Given the description of an element on the screen output the (x, y) to click on. 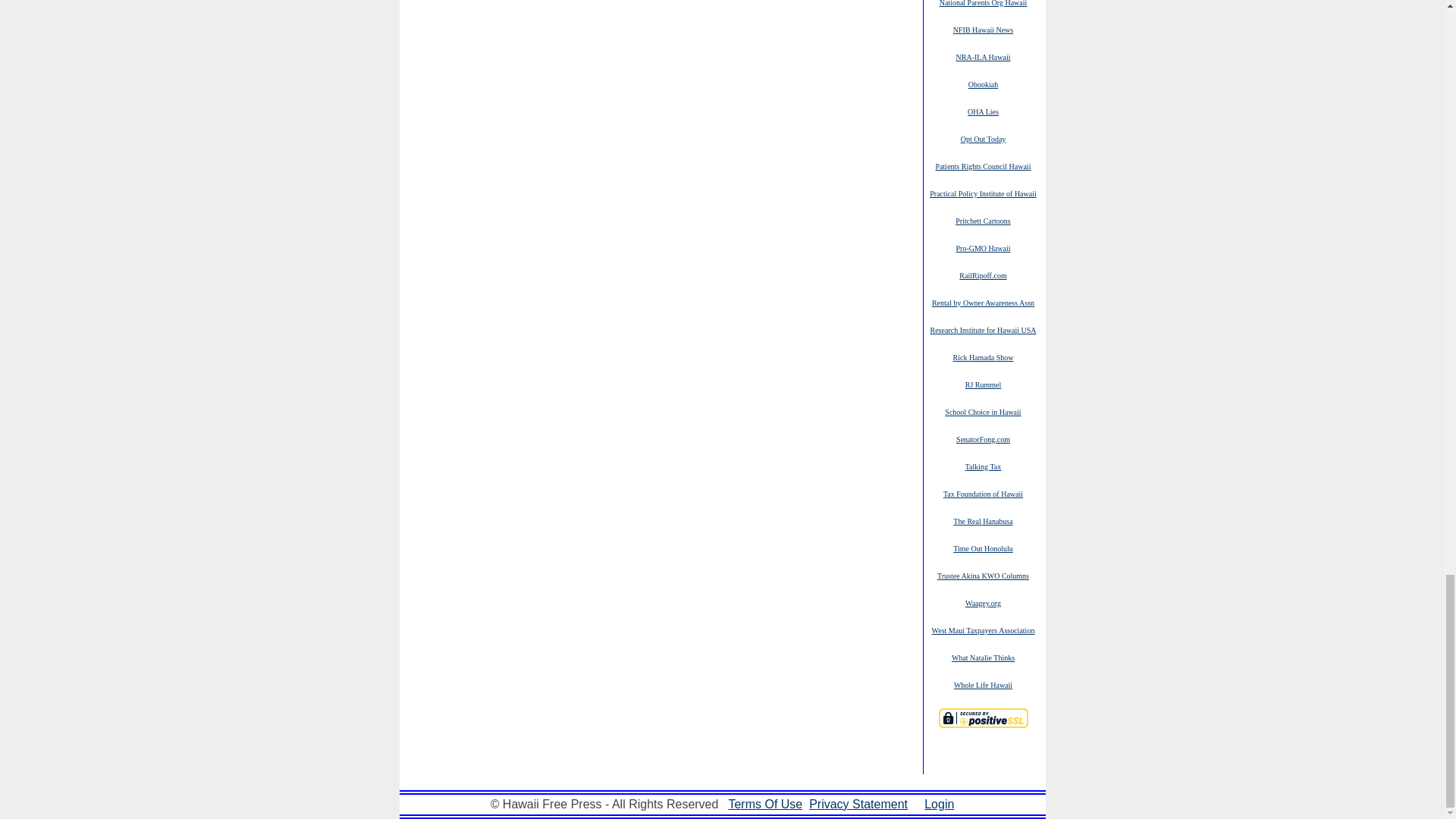
Login (938, 803)
